Given the description of an element on the screen output the (x, y) to click on. 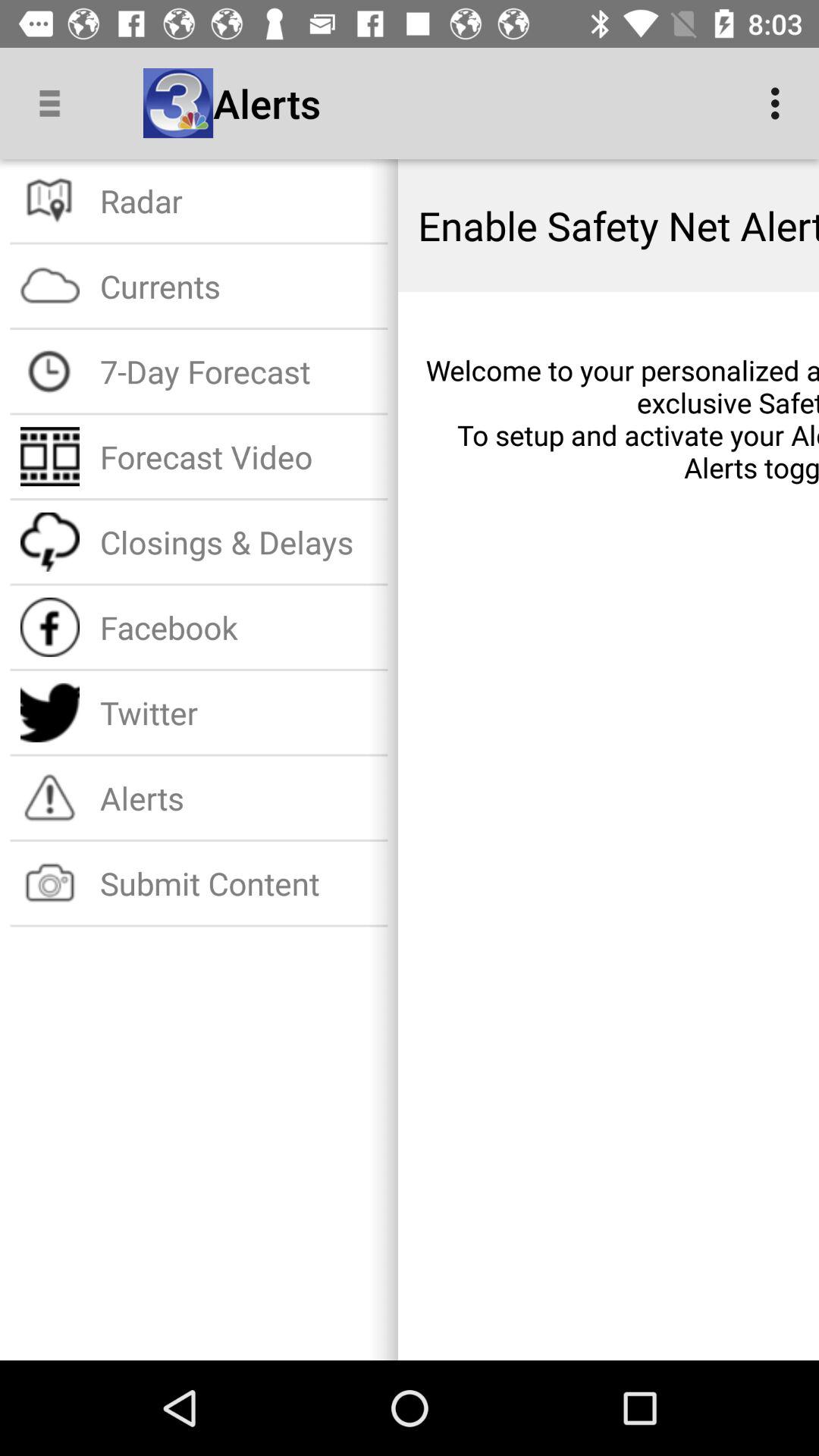
choose the item above the currents item (238, 200)
